Given the description of an element on the screen output the (x, y) to click on. 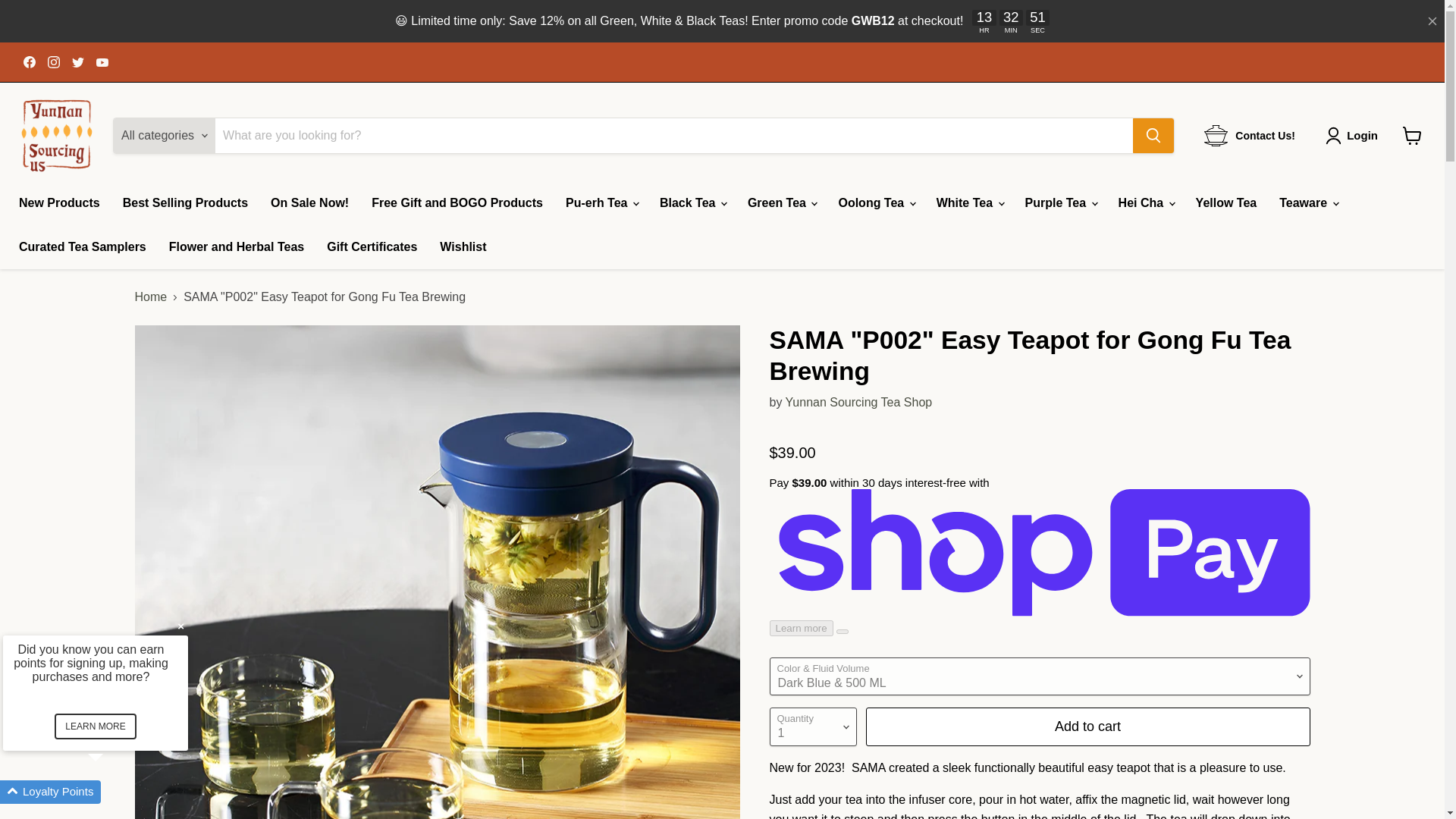
Find us on Instagram (53, 61)
Twitter (77, 61)
Best Selling Products (185, 203)
View cart (1411, 135)
Find us on Facebook (29, 61)
Find us on YouTube (102, 61)
Free Gift and BOGO Products (456, 203)
Yunnan Sourcing Tea Shop (859, 401)
YouTube (102, 61)
Facebook (29, 61)
